Given the description of an element on the screen output the (x, y) to click on. 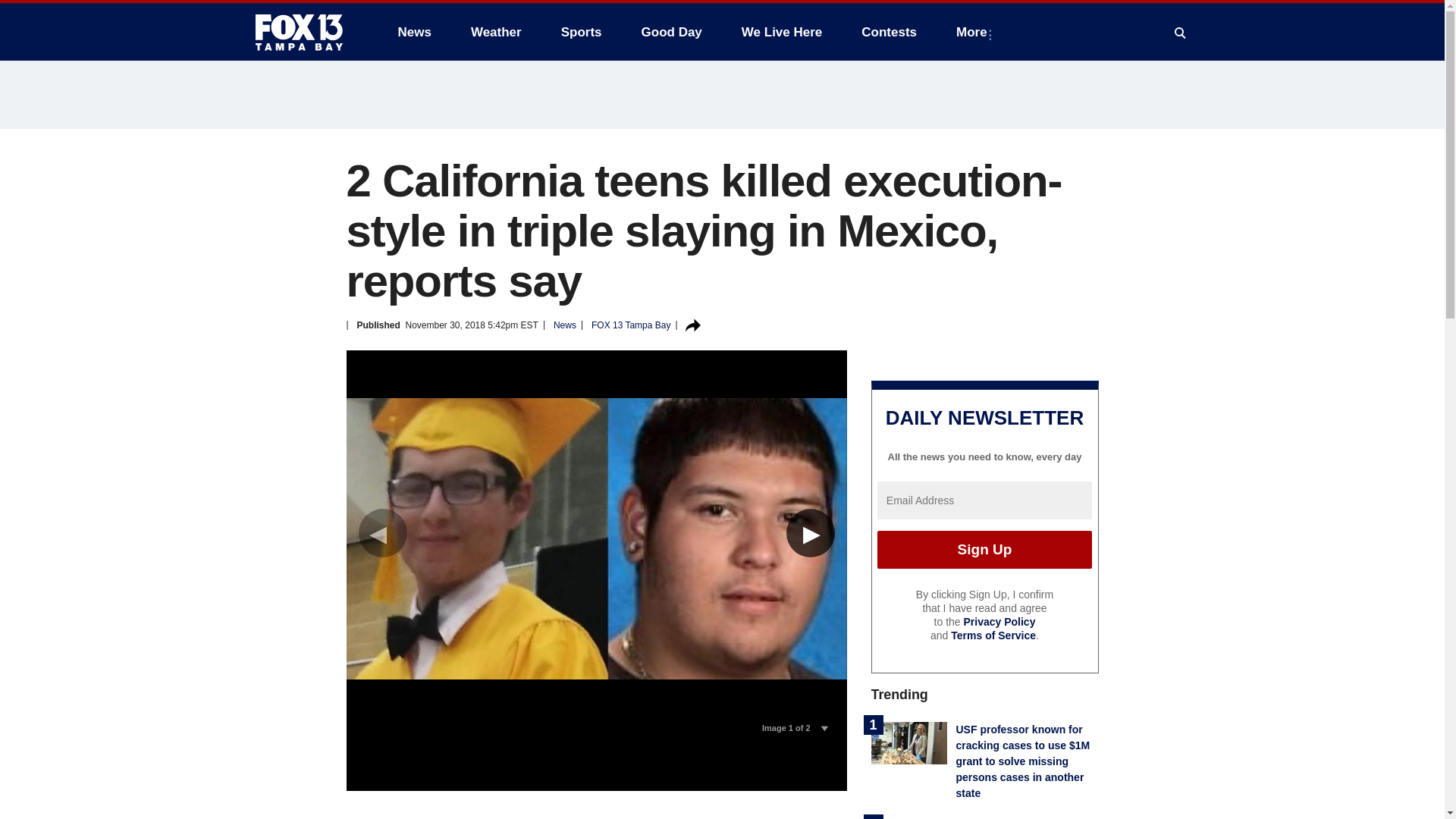
Weather (496, 32)
Contests (888, 32)
Good Day (671, 32)
We Live Here (781, 32)
More (974, 32)
Sign Up (984, 549)
Sports (581, 32)
News (413, 32)
